Given the description of an element on the screen output the (x, y) to click on. 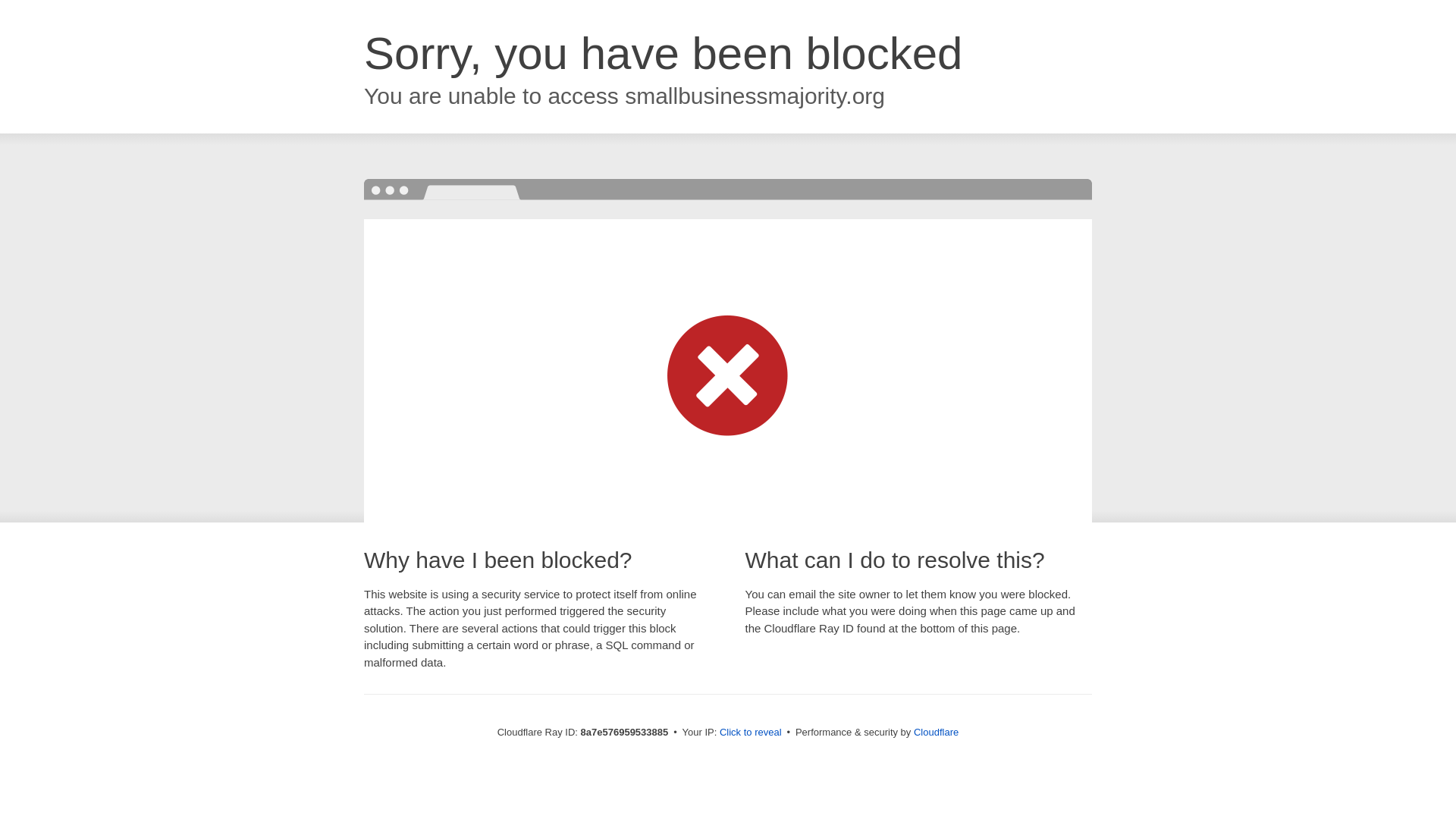
Cloudflare (936, 731)
Click to reveal (750, 732)
